Given the description of an element on the screen output the (x, y) to click on. 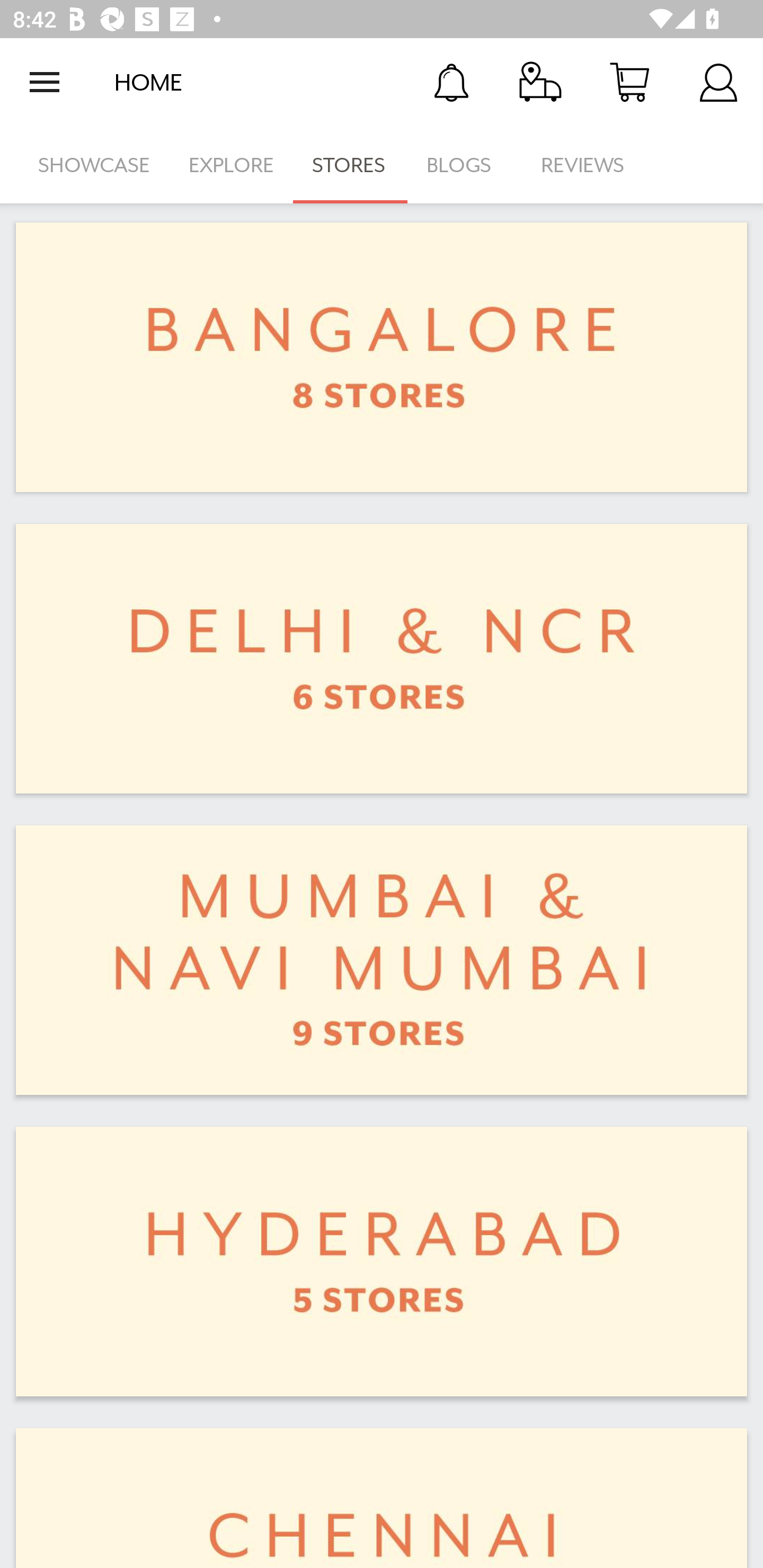
Open navigation drawer (44, 82)
Notification (450, 81)
Track Order (540, 81)
Cart (629, 81)
Account Details (718, 81)
SHOWCASE (94, 165)
EXPLORE (230, 165)
STORES (349, 165)
BLOGS (464, 165)
REVIEWS (582, 165)
